Given the description of an element on the screen output the (x, y) to click on. 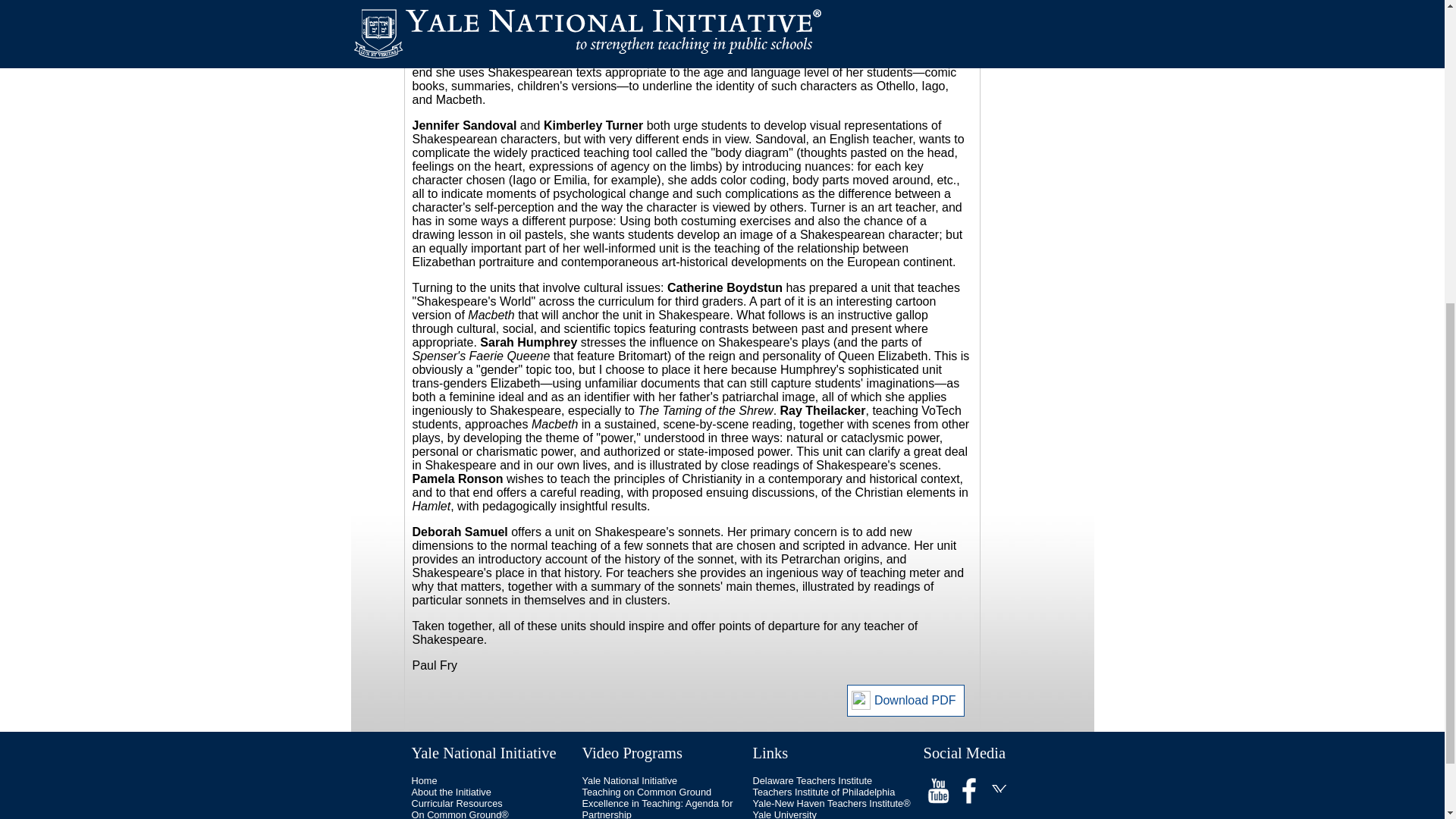
Download PDF (905, 700)
Home (423, 780)
